Given the description of an element on the screen output the (x, y) to click on. 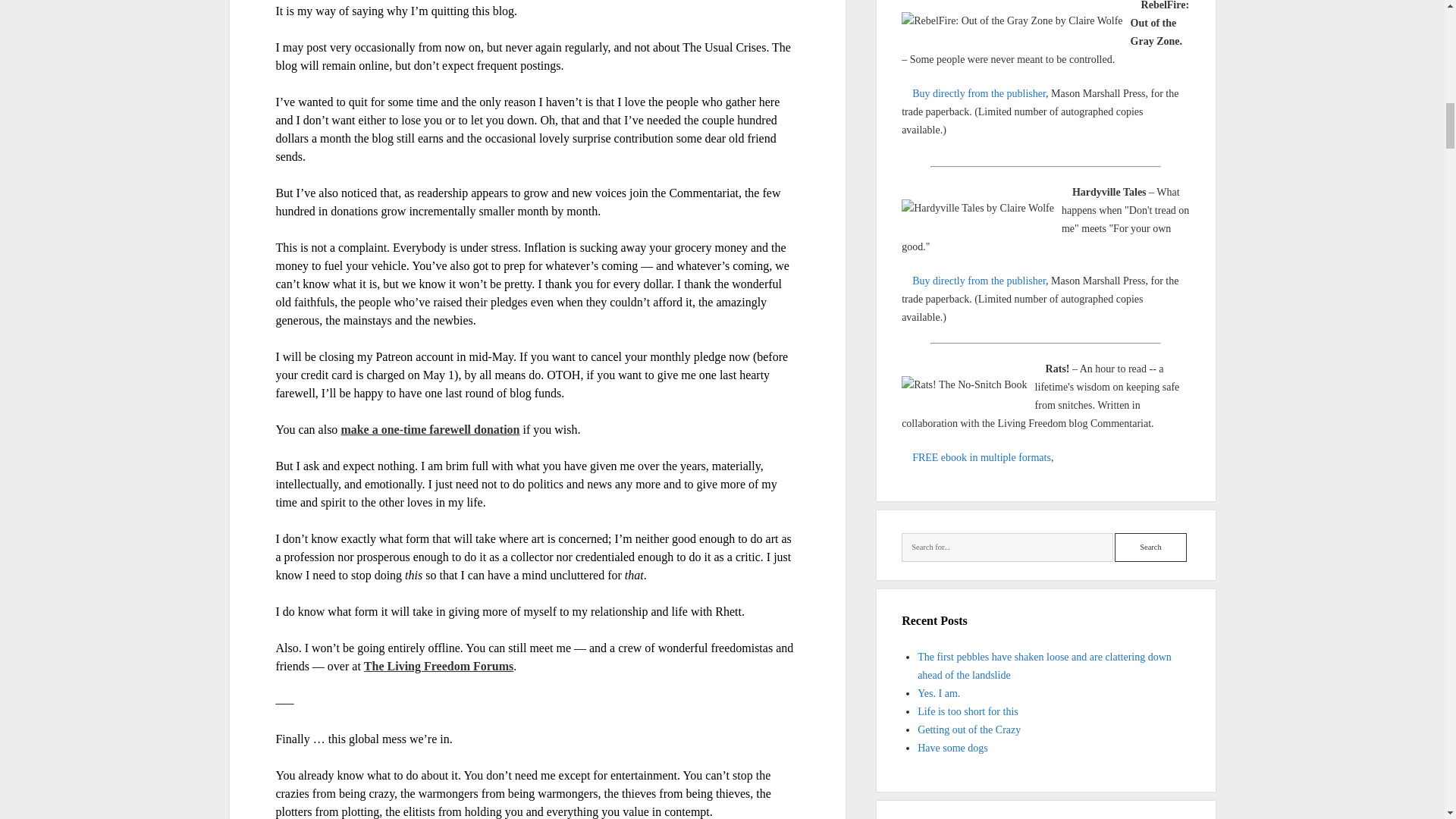
Search for: (1007, 547)
make a one-time farewell donation (429, 429)
Search (1150, 547)
Search (1150, 547)
The Living Freedom Forums (438, 666)
